Given the description of an element on the screen output the (x, y) to click on. 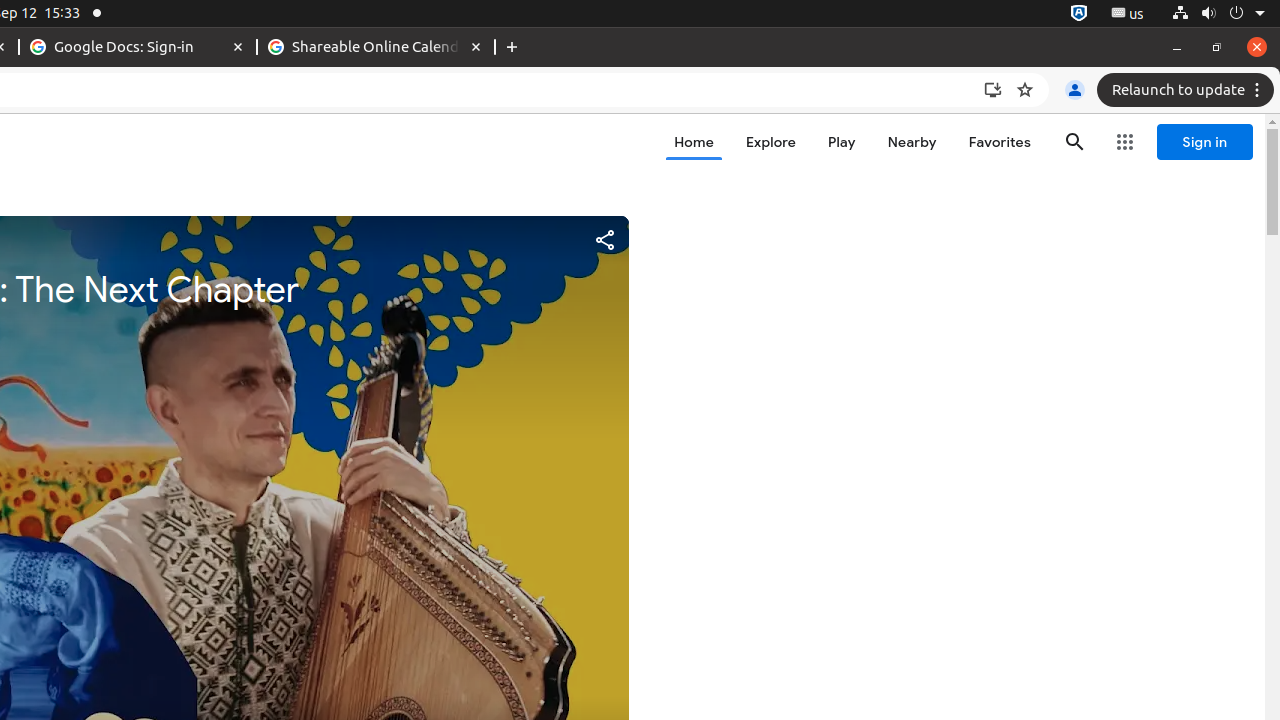
Bookmark this tab Element type: push-button (1025, 90)
New Tab Element type: push-button (512, 47)
Search Element type: push-button (1075, 142)
